Given the description of an element on the screen output the (x, y) to click on. 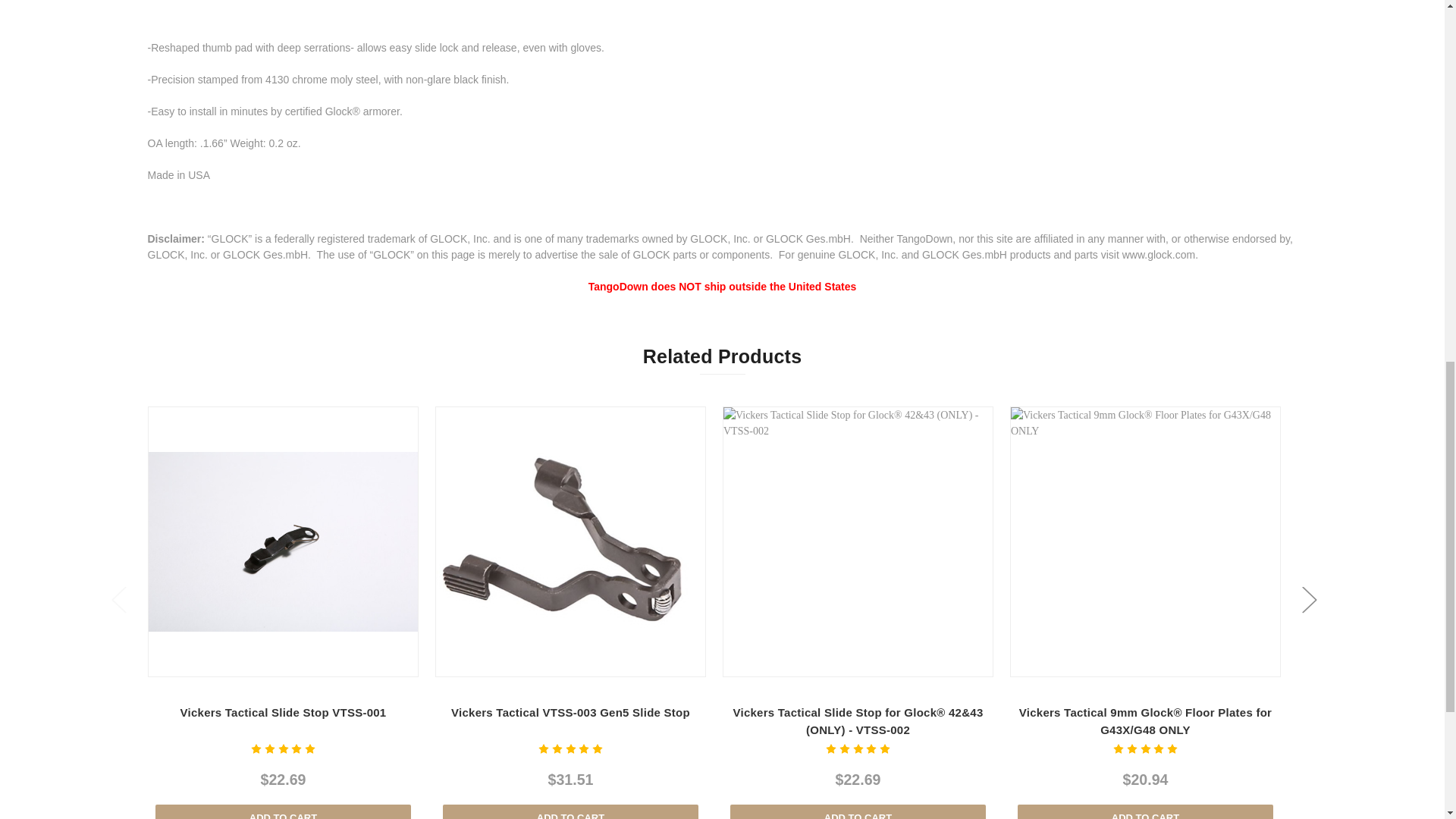
Vickers Tactical VTSS-003 Gen5 Slide Stop (569, 541)
Vickers Tactical Slide Stop VTSS-001 (282, 541)
Vickers Tactical Slide Stop VTSS-001 (282, 541)
